Given the description of an element on the screen output the (x, y) to click on. 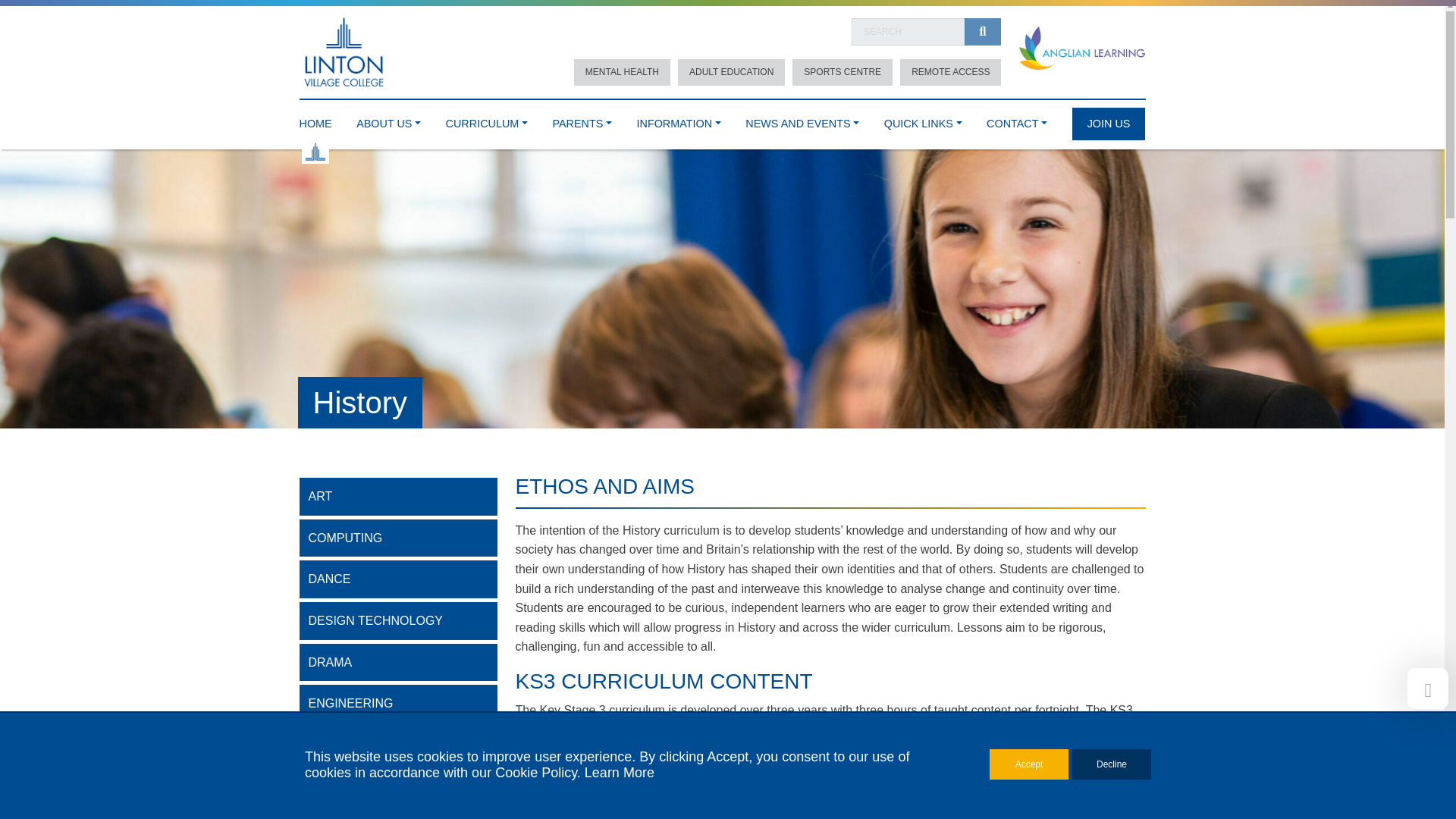
CURRICULUM (486, 119)
SPORTS CENTRE (842, 71)
REMOTE ACCESS (950, 71)
ADULT EDUCATION (731, 71)
HOME (314, 119)
A JavaScript library for interactive maps (1123, 714)
Zoom out (895, 573)
Zoom in (895, 550)
PARENTS (581, 119)
Anglian Learning (1081, 47)
MENTAL HEALTH (621, 71)
ABOUT US (388, 119)
